Given the description of an element on the screen output the (x, y) to click on. 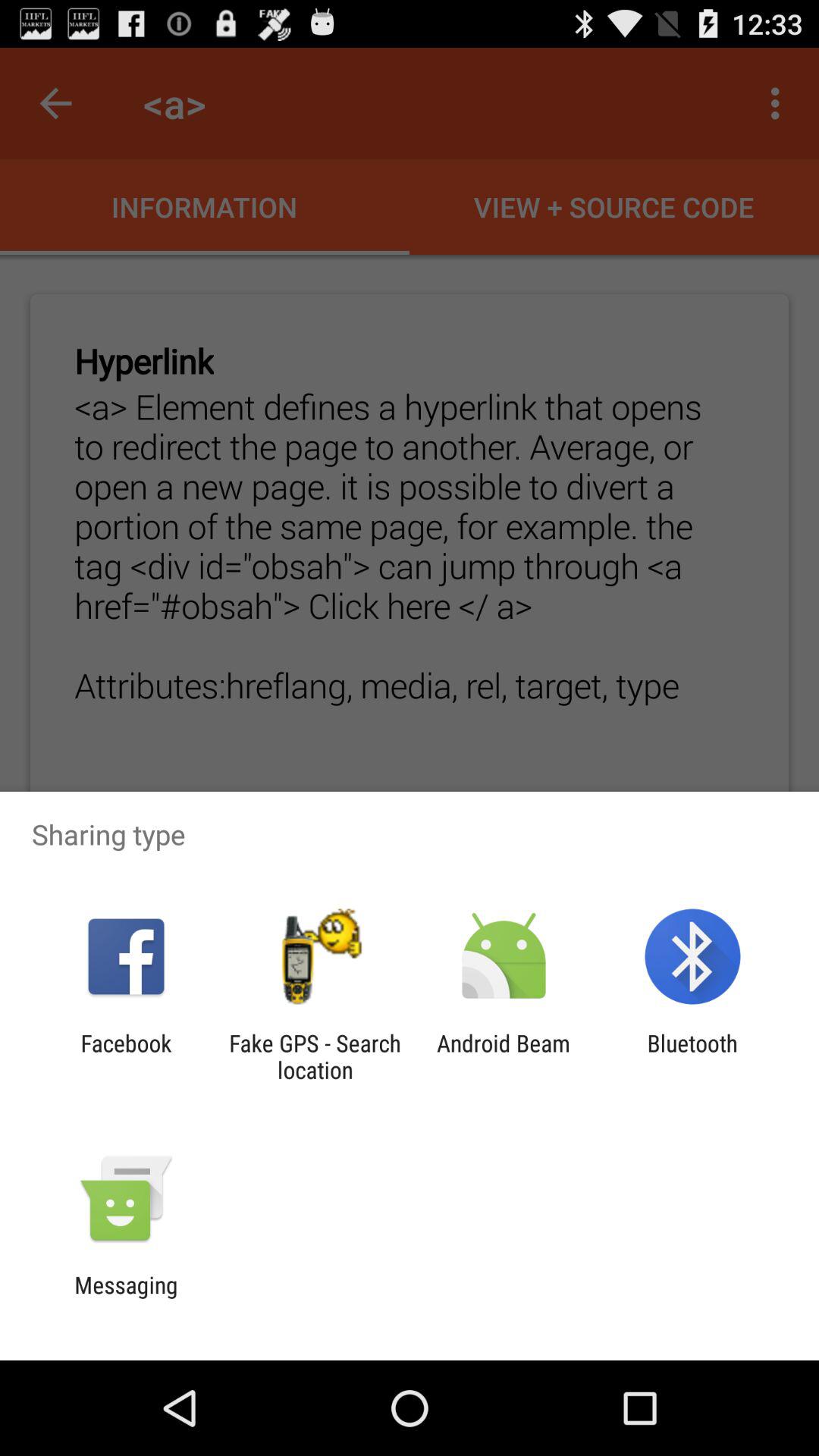
press icon to the left of the android beam app (314, 1056)
